Given the description of an element on the screen output the (x, y) to click on. 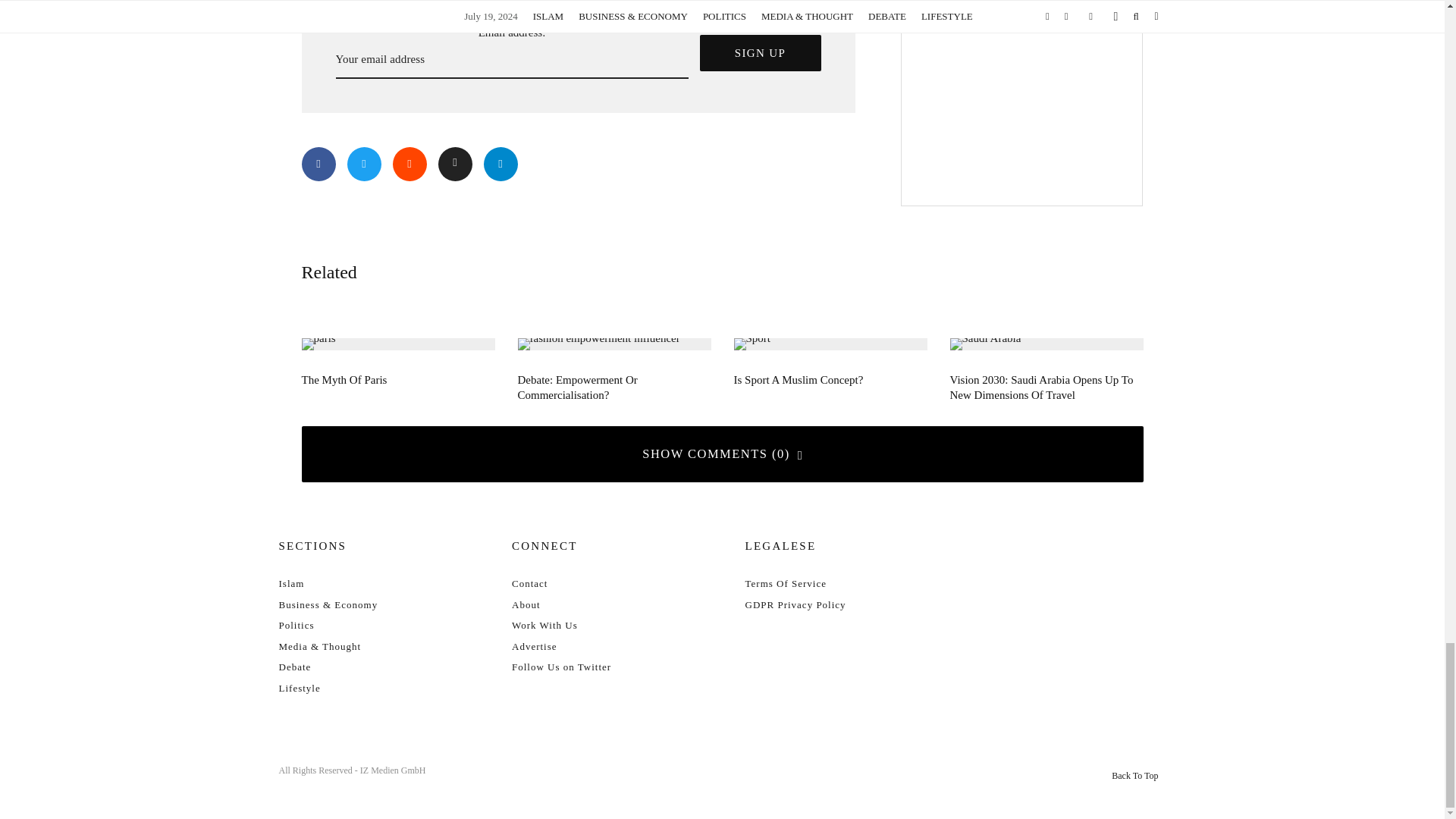
Sign up (759, 53)
